Given the description of an element on the screen output the (x, y) to click on. 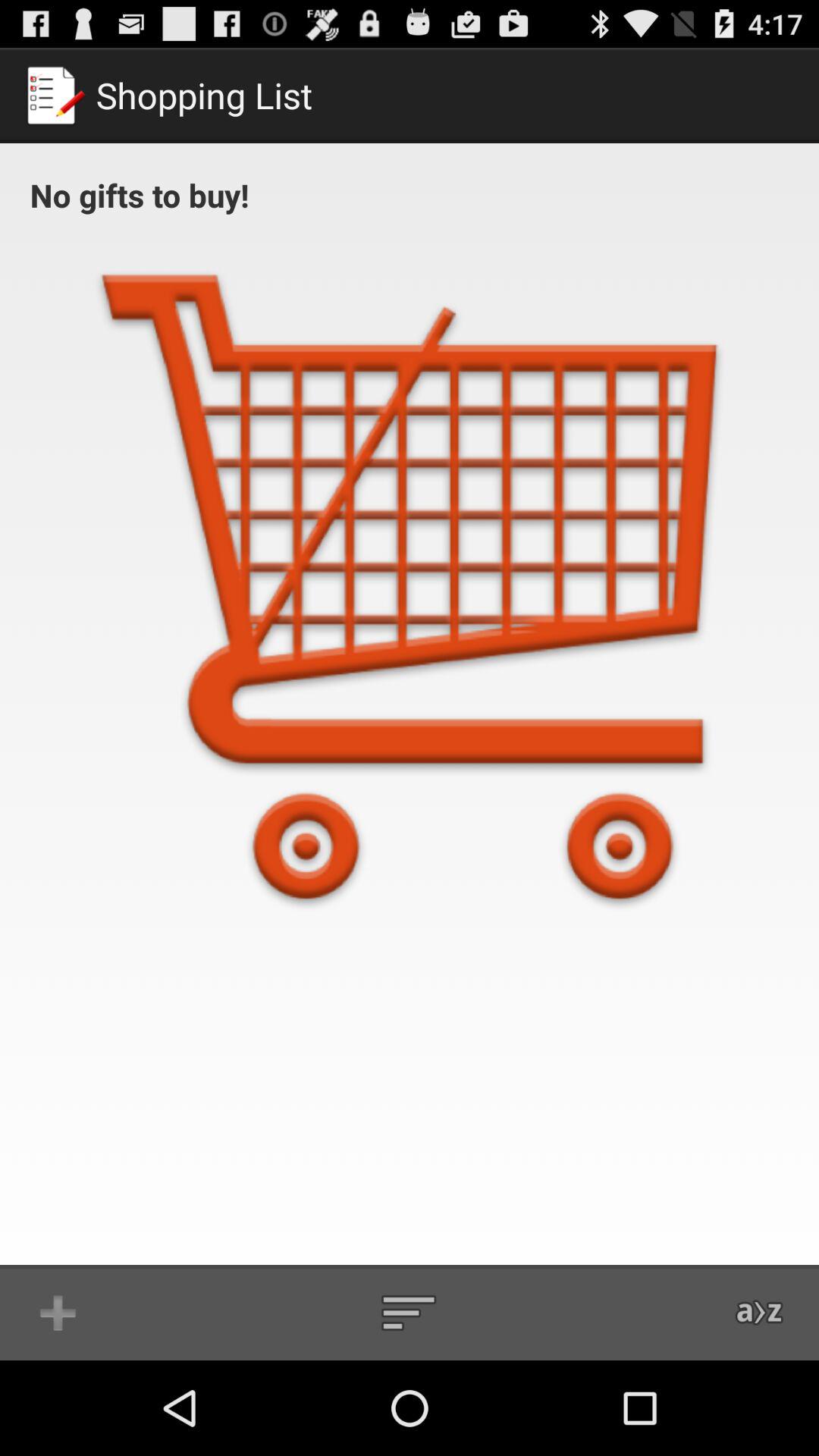
launch icon at the bottom right corner (759, 1312)
